Given the description of an element on the screen output the (x, y) to click on. 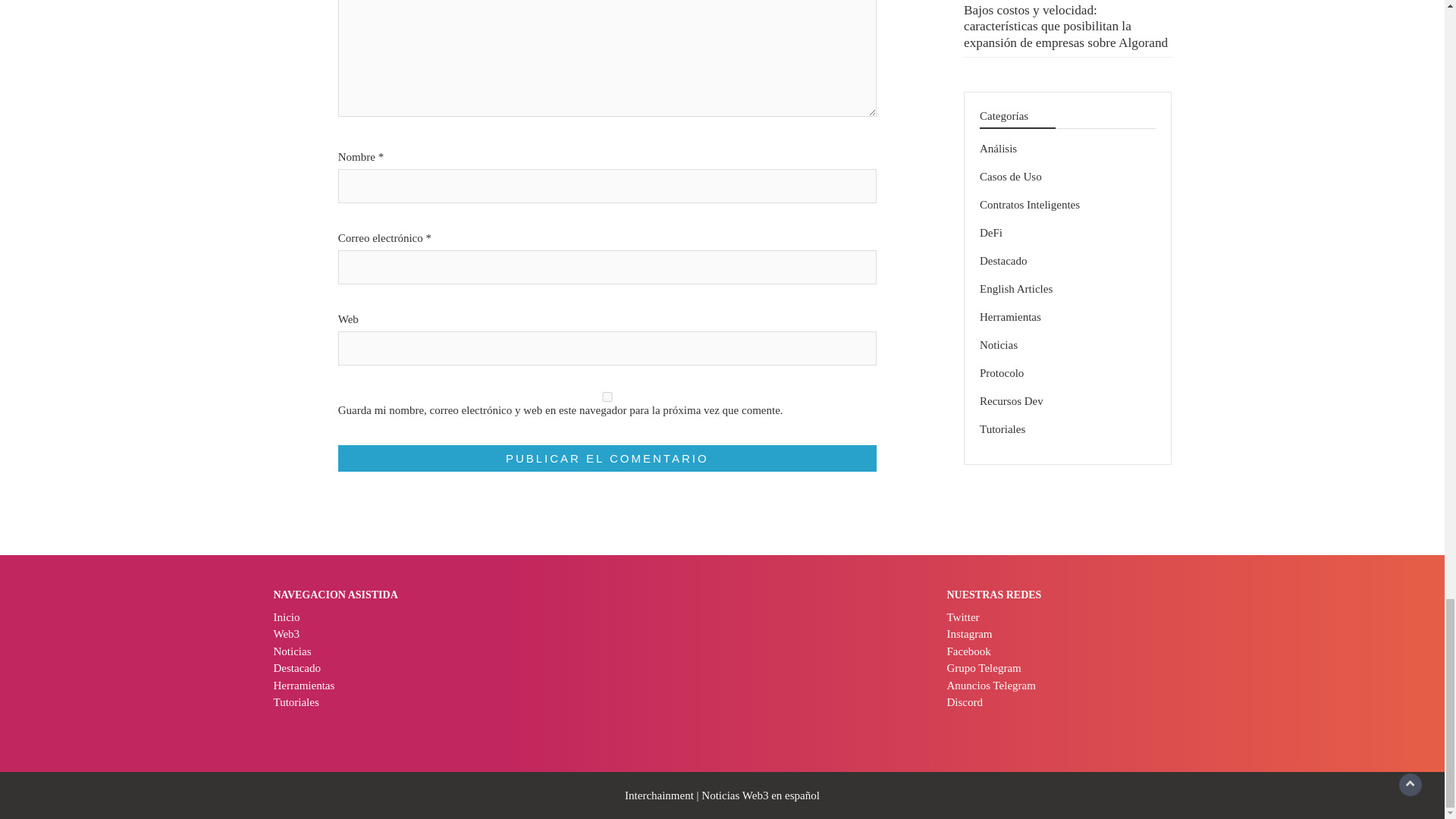
Publicar el comentario (606, 458)
yes (606, 397)
Publicar el comentario (606, 458)
